Given the description of an element on the screen output the (x, y) to click on. 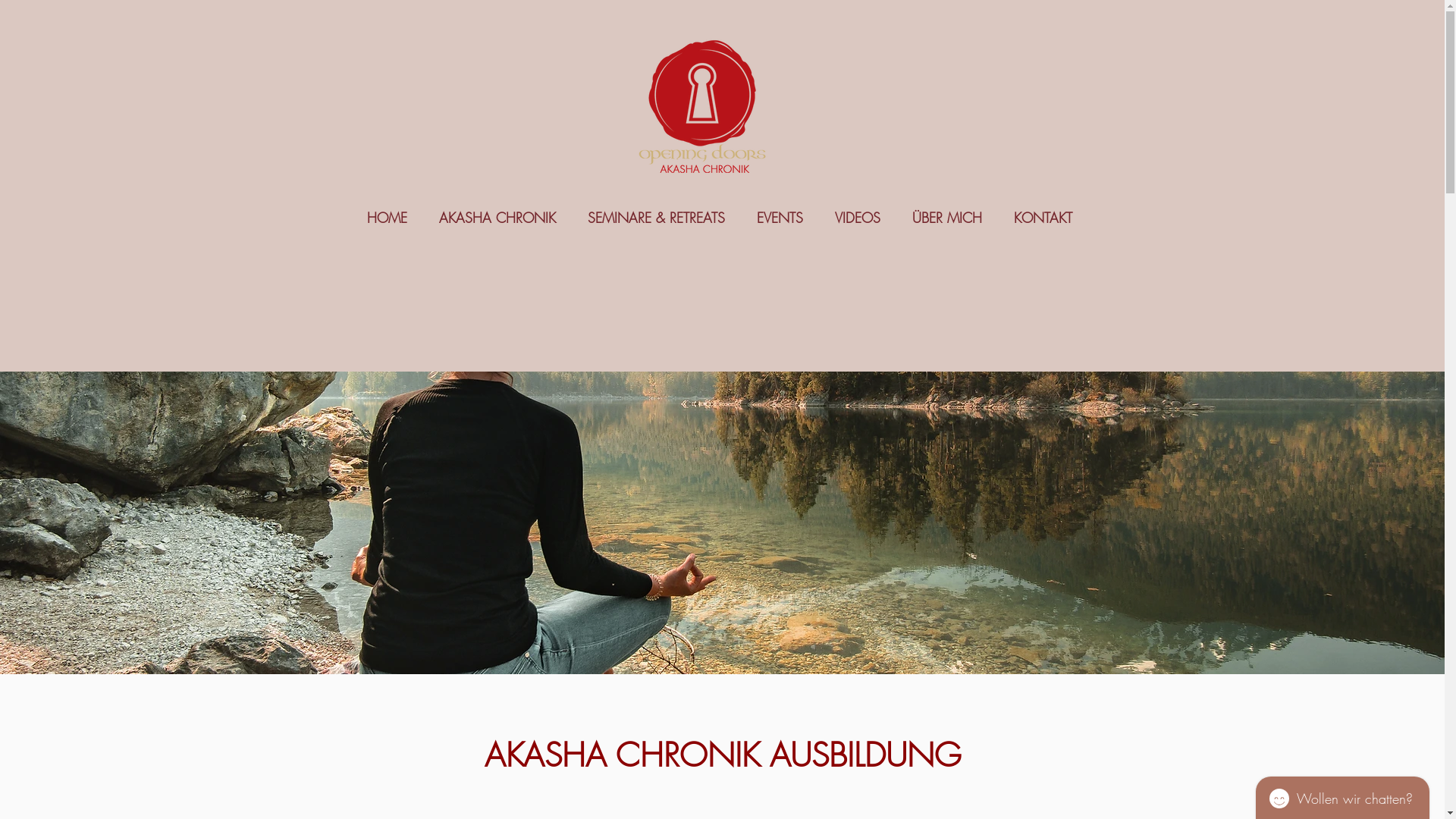
HOME Element type: text (386, 215)
VIDEOS Element type: text (857, 215)
AKASHA CHRONIK Element type: text (497, 215)
SEMINARE & RETREATS Element type: text (655, 215)
EVENTS Element type: text (779, 215)
KONTAKT Element type: text (1042, 215)
